Given the description of an element on the screen output the (x, y) to click on. 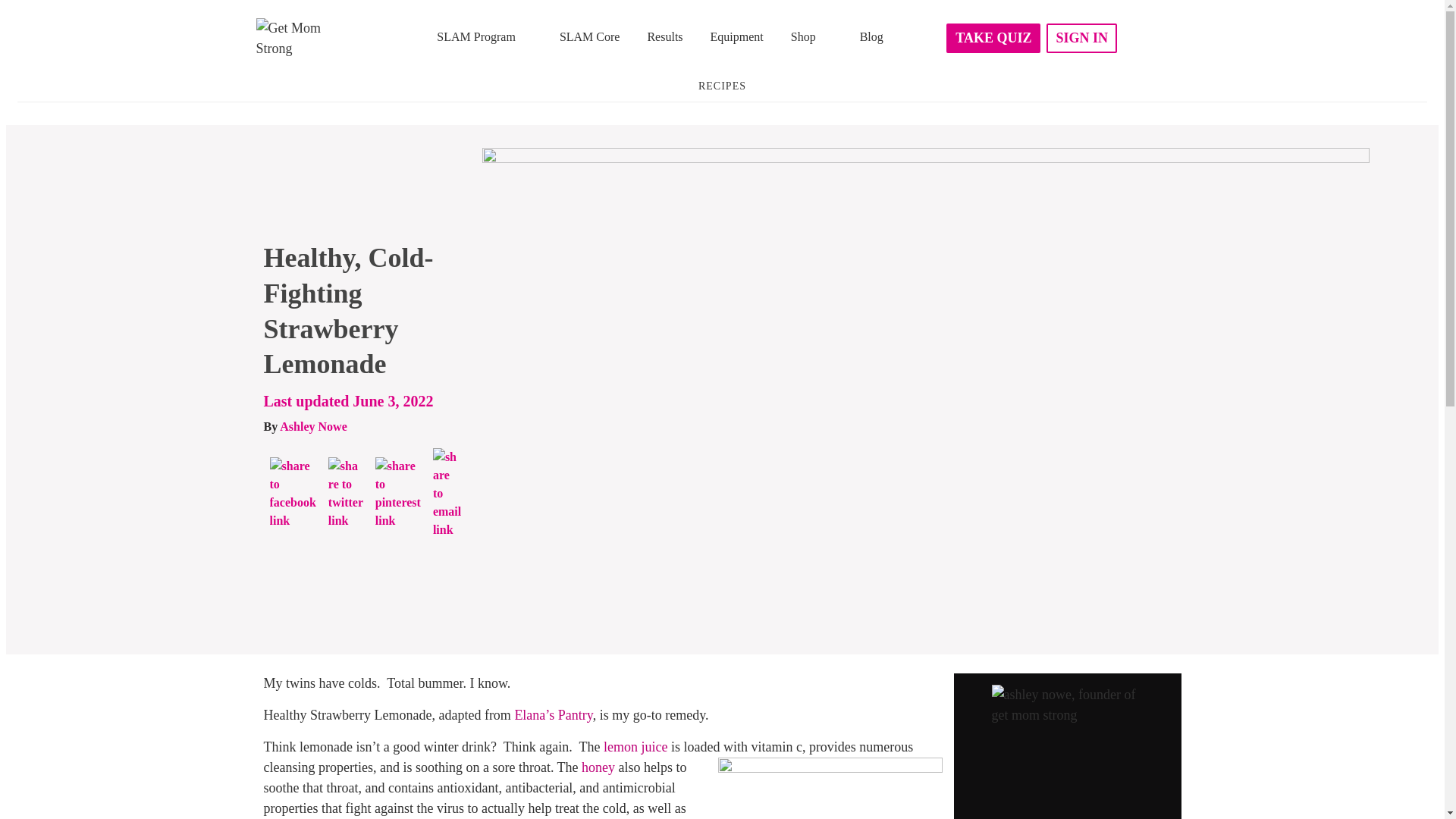
SIGN IN (1081, 38)
Equipment (737, 38)
Results (664, 38)
Share by Email (446, 492)
Blog (870, 38)
Shop (811, 37)
TAKE QUIZ (993, 38)
SLAM Core (589, 38)
SLAM Program (484, 37)
